Given the description of an element on the screen output the (x, y) to click on. 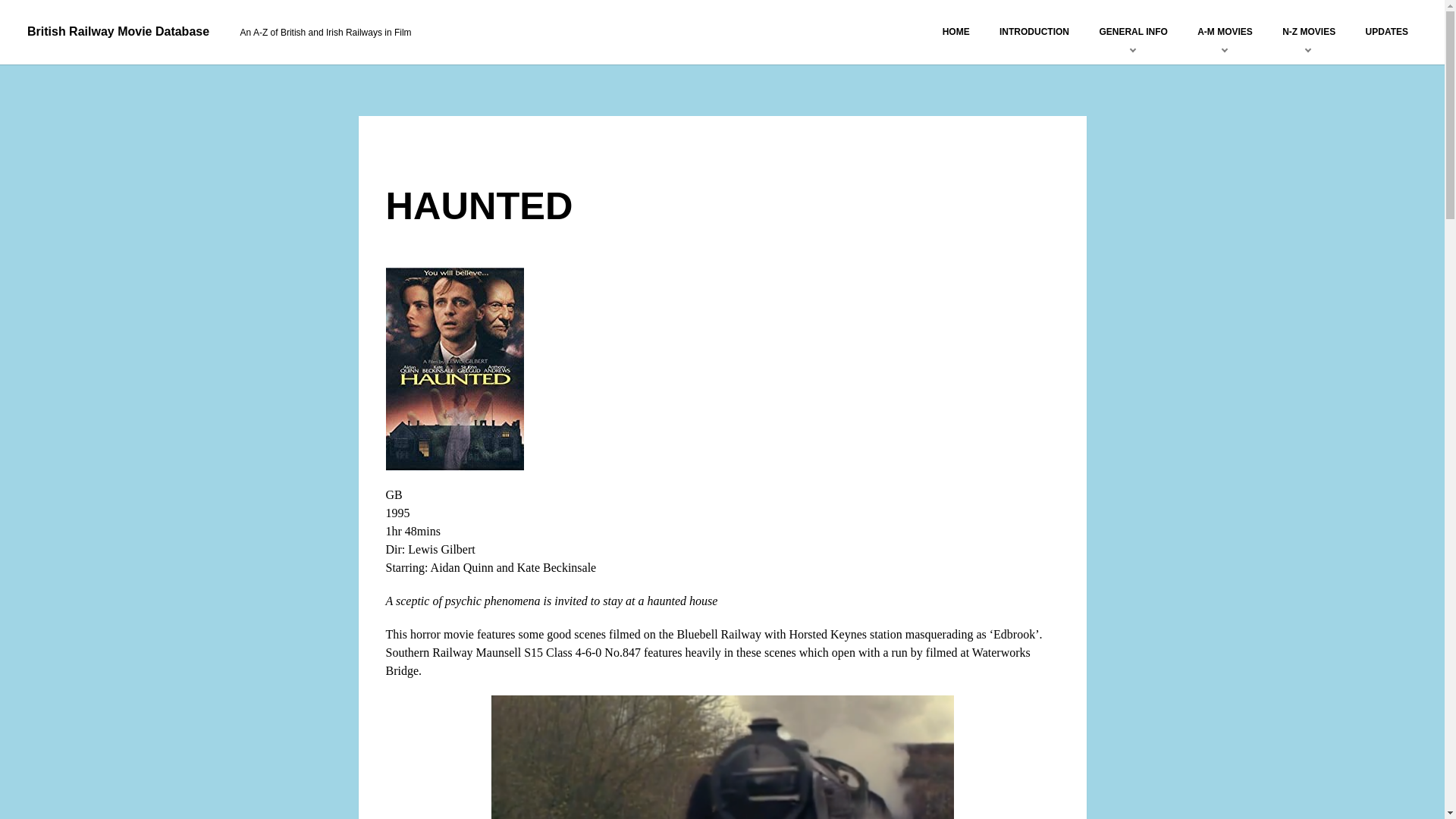
GENERAL INFO (1132, 31)
HOME (955, 31)
A-M MOVIES (1225, 31)
UPDATES (1386, 31)
N-Z MOVIES (1307, 31)
INTRODUCTION (1034, 31)
British Railway Movie Database (118, 31)
